Given the description of an element on the screen output the (x, y) to click on. 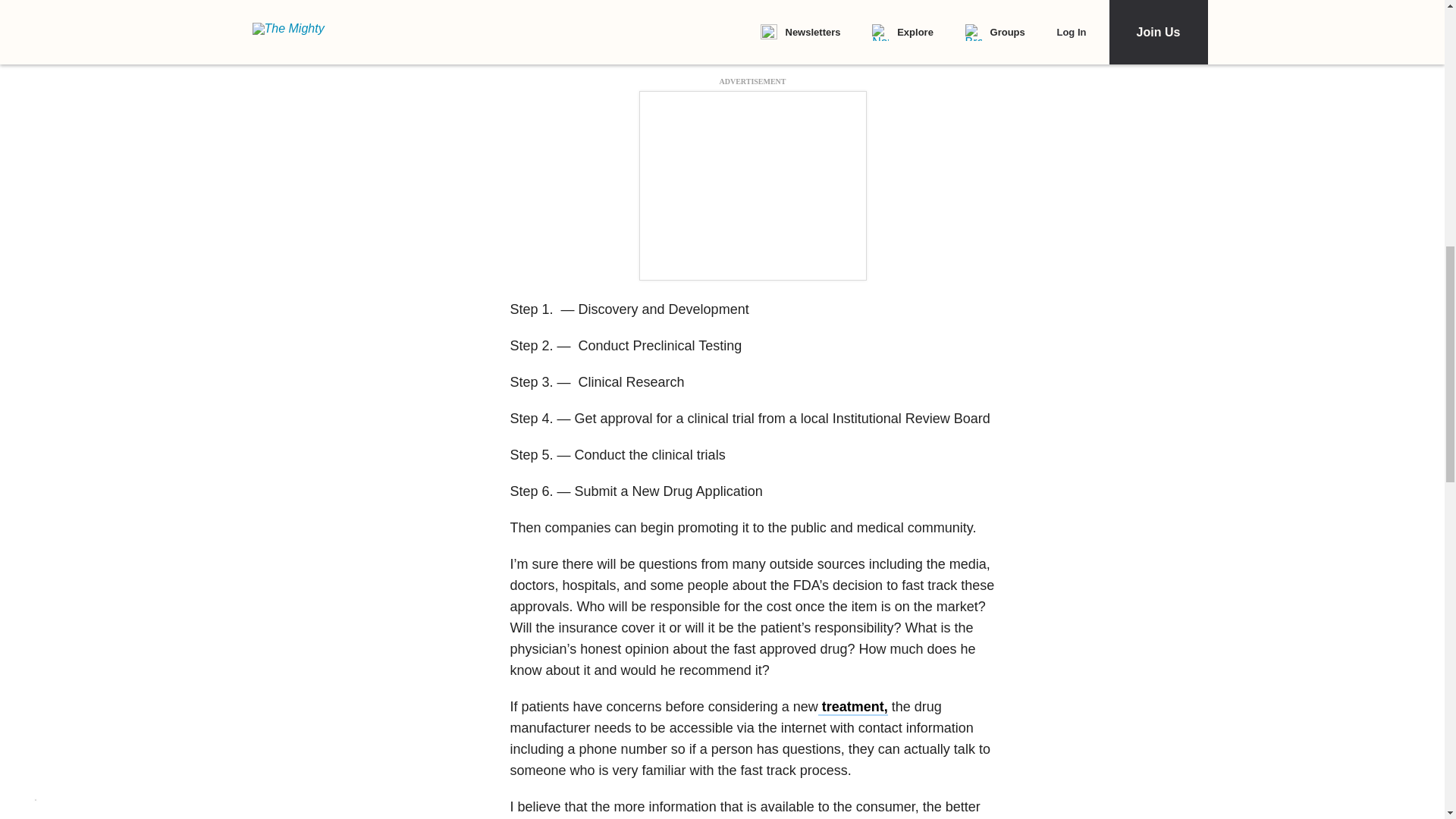
some research (588, 25)
treatment, (853, 707)
